Given the description of an element on the screen output the (x, y) to click on. 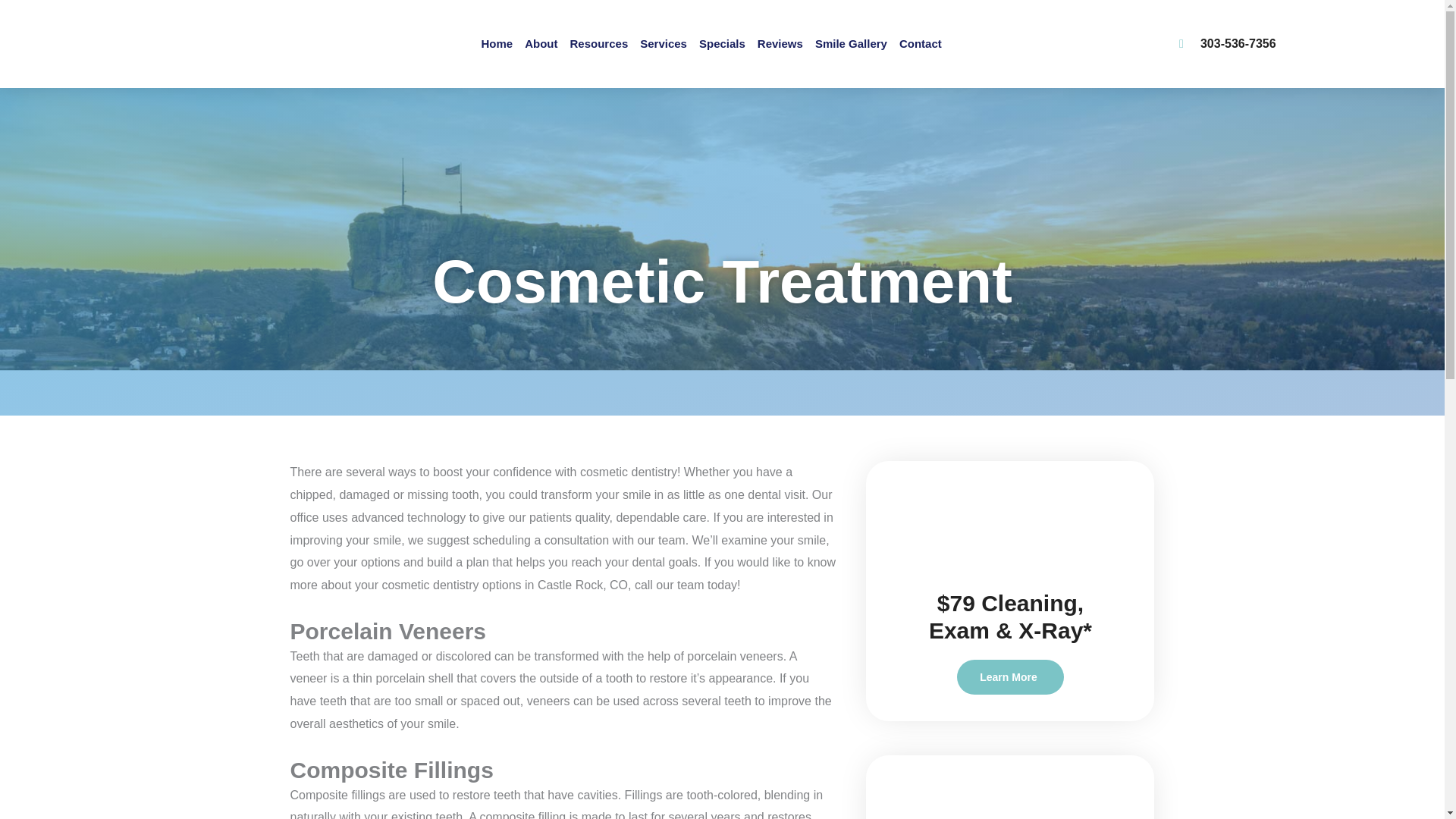
About (540, 43)
Contact (920, 43)
Resources (599, 43)
Specials (722, 43)
Home (496, 43)
Reviews (780, 43)
303-536-7356 (1227, 43)
Learn More (1009, 677)
Smile Gallery (851, 43)
family doing laundry (1010, 787)
Services (663, 43)
